Given the description of an element on the screen output the (x, y) to click on. 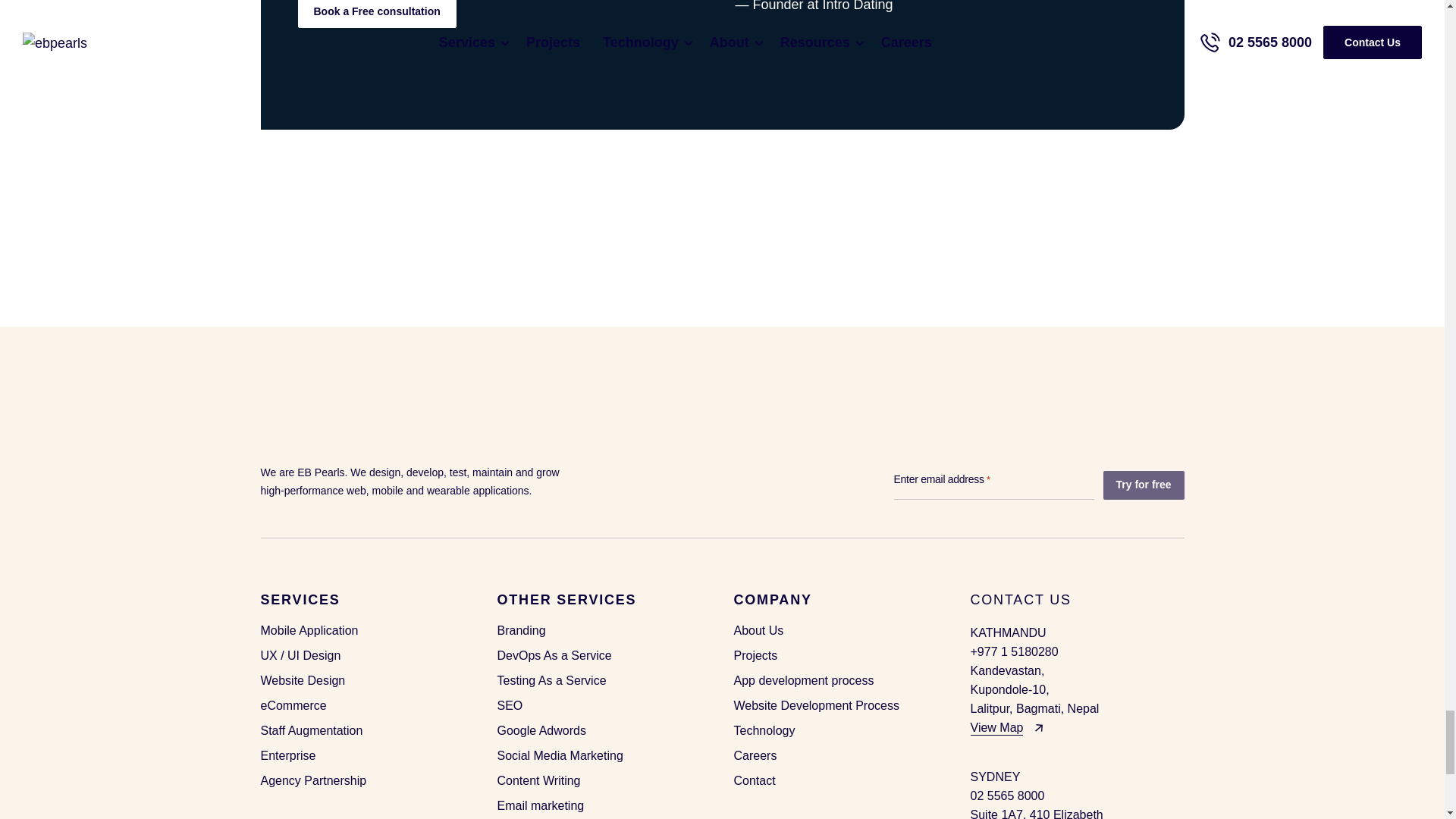
Try for free (1142, 484)
